Given the description of an element on the screen output the (x, y) to click on. 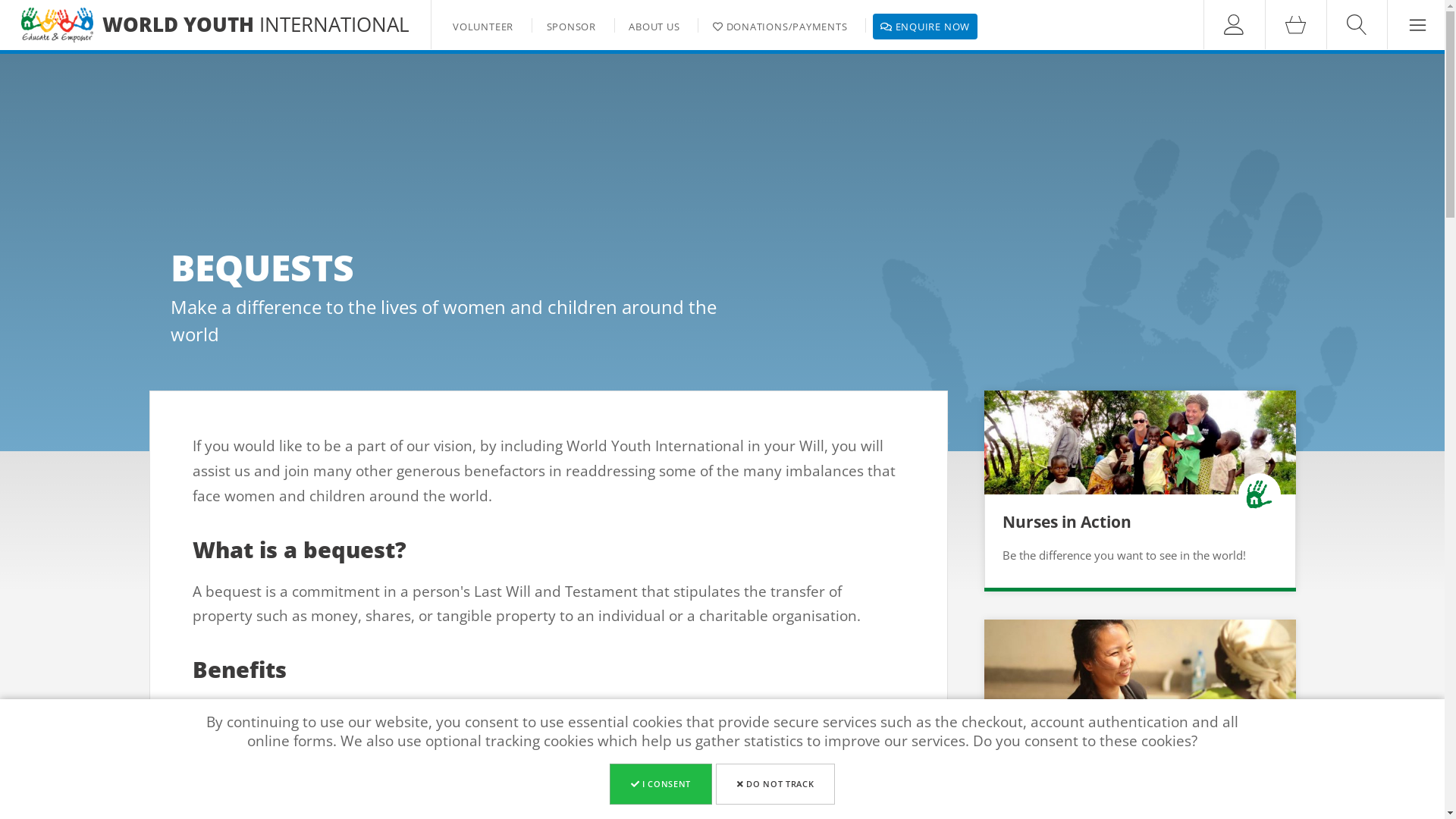
DO NOT TRACK Element type: text (774, 783)
Account Element type: text (1232, 24)
DONATIONS/PAYMENTS Element type: text (779, 26)
ABOUT US Element type: text (653, 26)
Nurses in Action Element type: text (1066, 521)
Global Adventurer's Program Element type: text (1117, 749)
Menu Element type: text (1415, 24)
ENQUIRE NOW Element type: text (924, 26)
WORLD YOUTH INTERNATIONAL Element type: text (255, 24)
Search Element type: text (1355, 24)
I CONSENT Element type: text (660, 783)
SPONSOR Element type: text (571, 26)
VOLUNTEER Element type: text (482, 26)
Cart Element type: text (1293, 24)
